Given the description of an element on the screen output the (x, y) to click on. 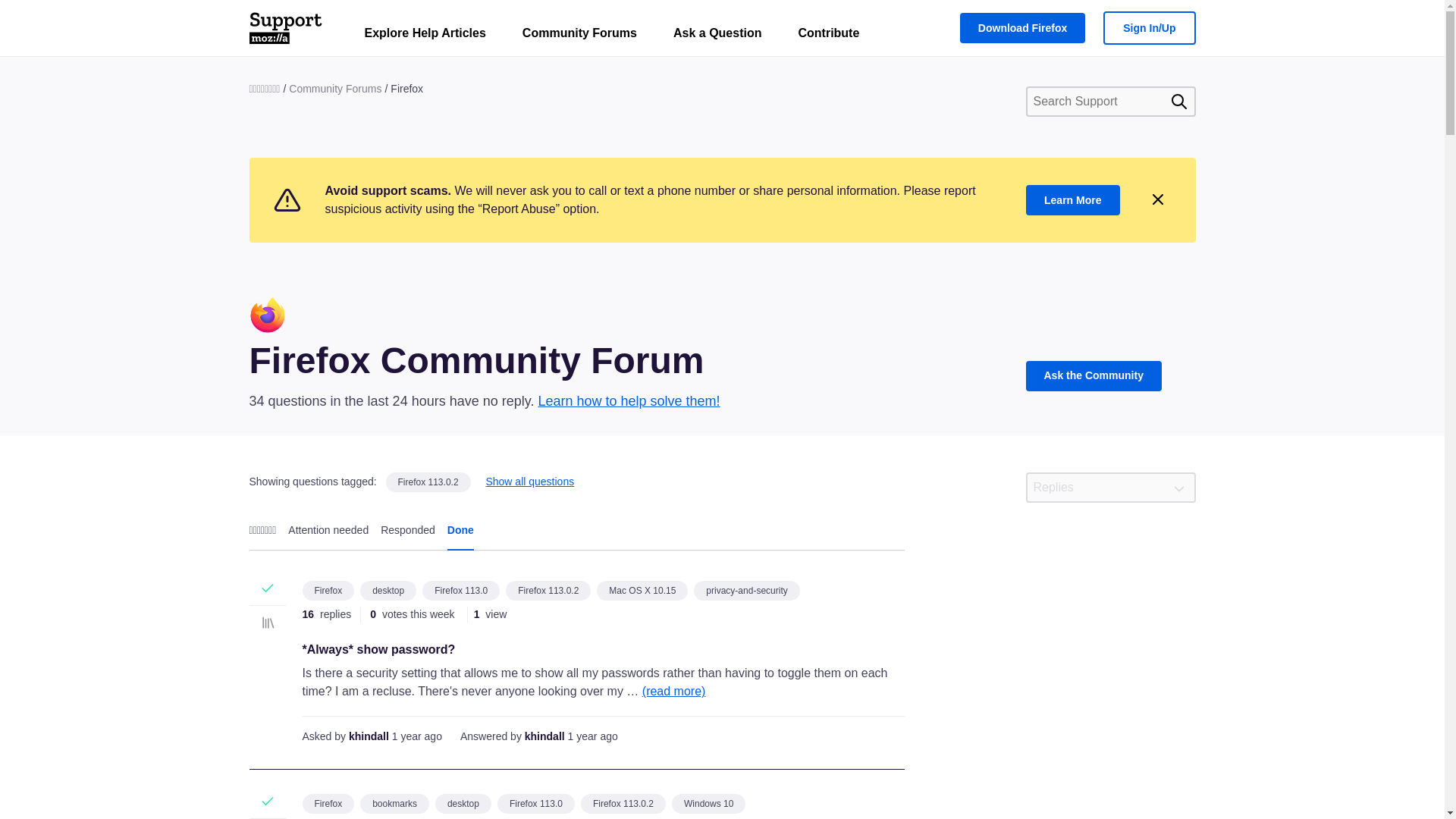
Community Forums (579, 37)
Explore Help Articles (424, 37)
Search (1178, 101)
Ask a Question (716, 37)
